Given the description of an element on the screen output the (x, y) to click on. 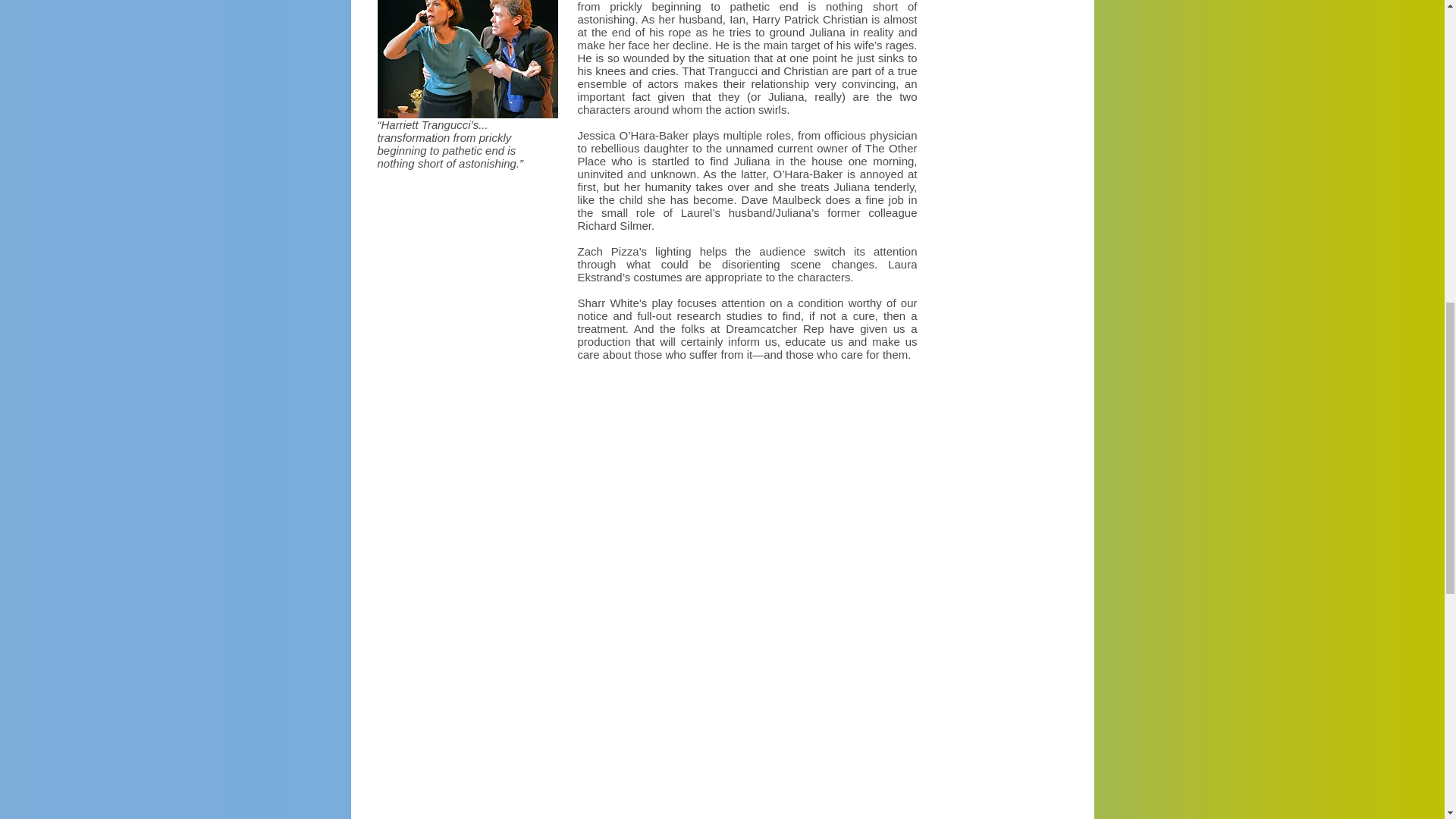
2013i-prod-14.jpg (467, 58)
